Given the description of an element on the screen output the (x, y) to click on. 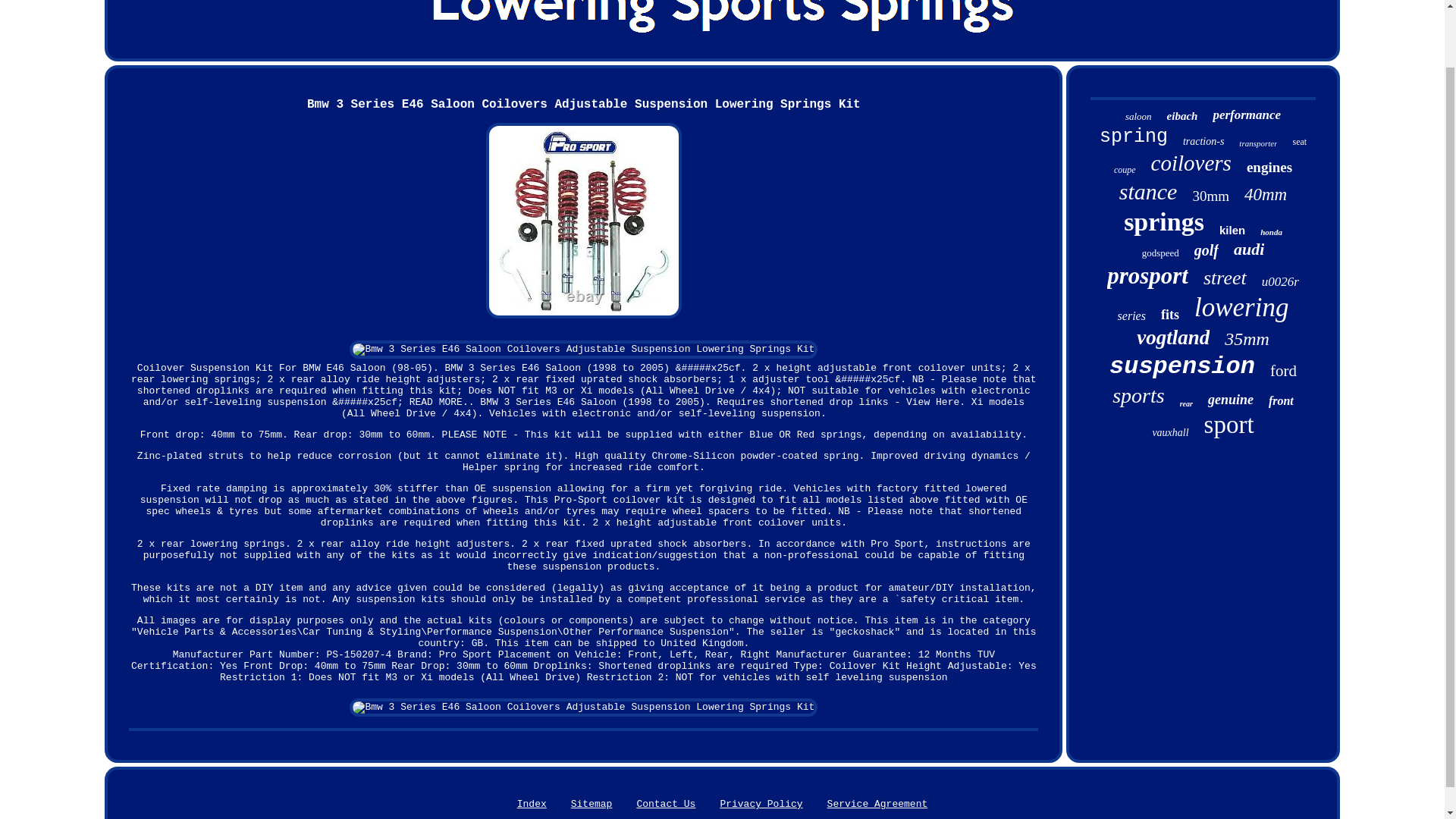
coupe (1124, 170)
eibach (1182, 115)
street (1225, 277)
springs (1164, 222)
30mm (1210, 196)
honda (1271, 231)
coilovers (1191, 163)
kilen (1232, 229)
godspeed (1160, 253)
golf (1205, 250)
seat (1299, 142)
engines (1269, 167)
40mm (1265, 194)
